Given the description of an element on the screen output the (x, y) to click on. 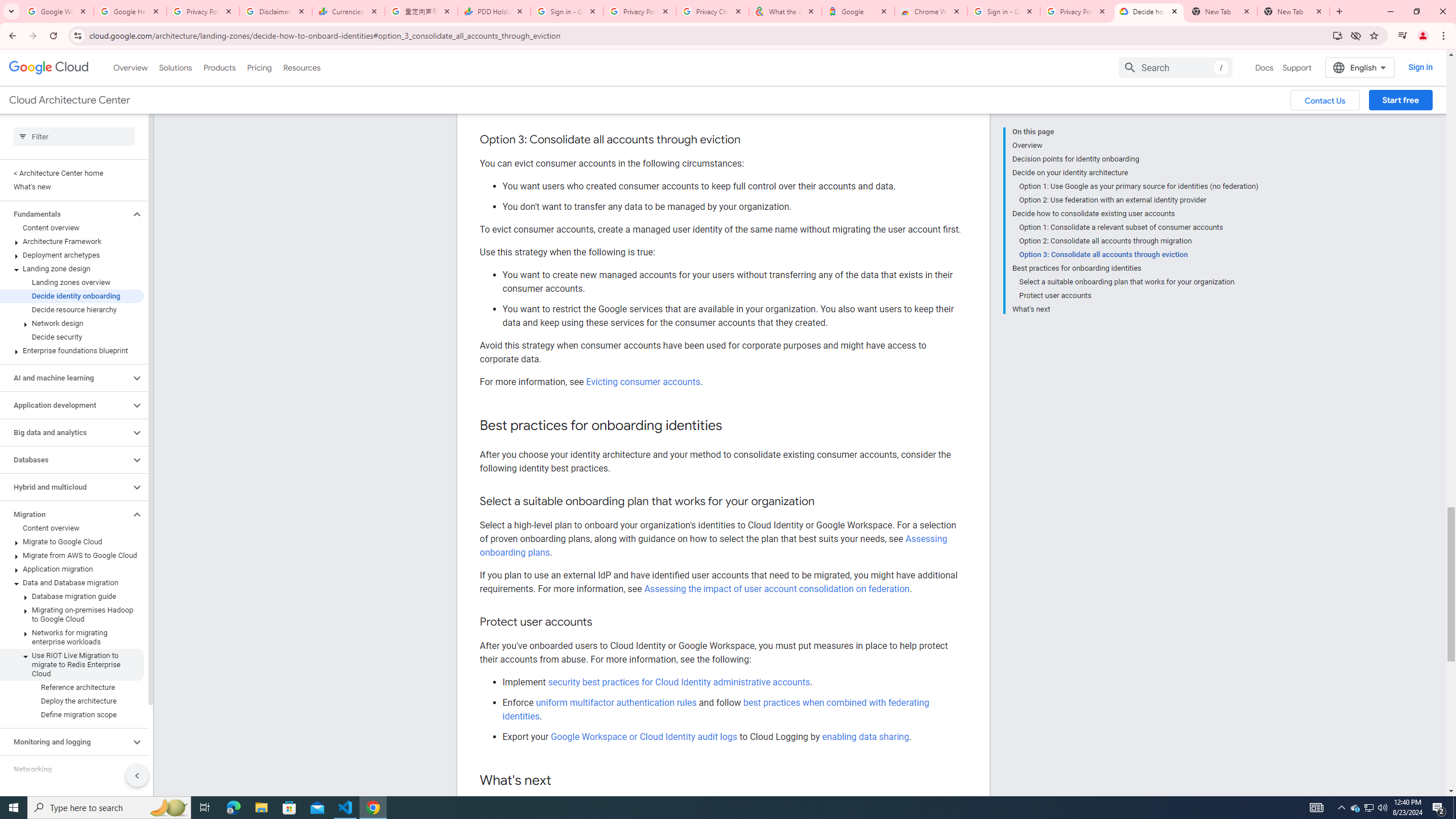
Decide security (72, 336)
Google Workspace Admin Community (57, 11)
< Architecture Center home (72, 173)
Protect user accounts (1138, 295)
Docs, selected (1264, 67)
best practices when combined with federating identities (715, 708)
Decide resource hierarchy (72, 309)
Decide how to consolidate existing user accounts (1134, 213)
Assessing onboarding plans (713, 545)
Migrating consumer accounts (646, 106)
Decide on your identity architecture (1134, 172)
Data and Database migration (72, 582)
